Given the description of an element on the screen output the (x, y) to click on. 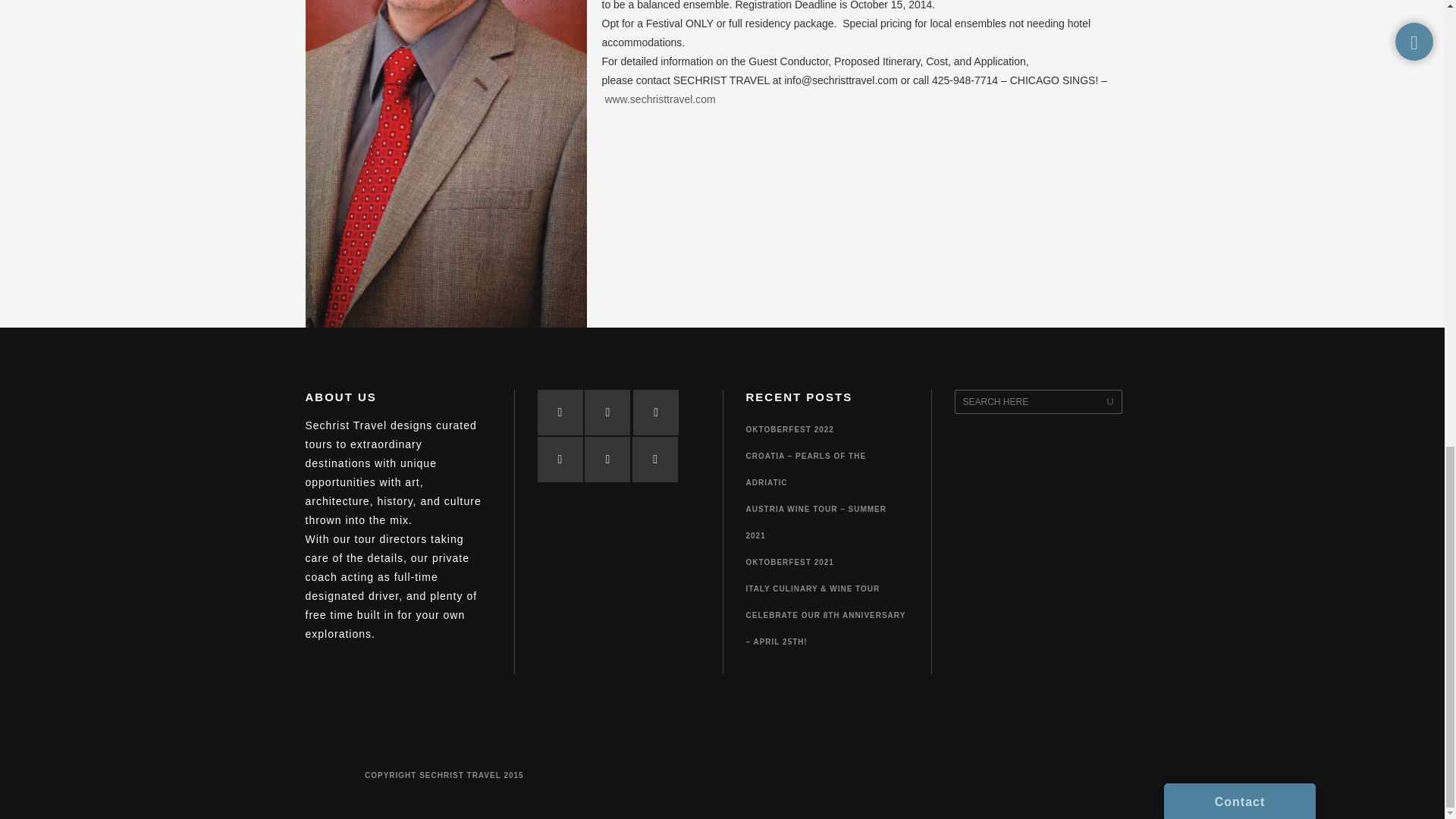
U (1110, 401)
